Given the description of an element on the screen output the (x, y) to click on. 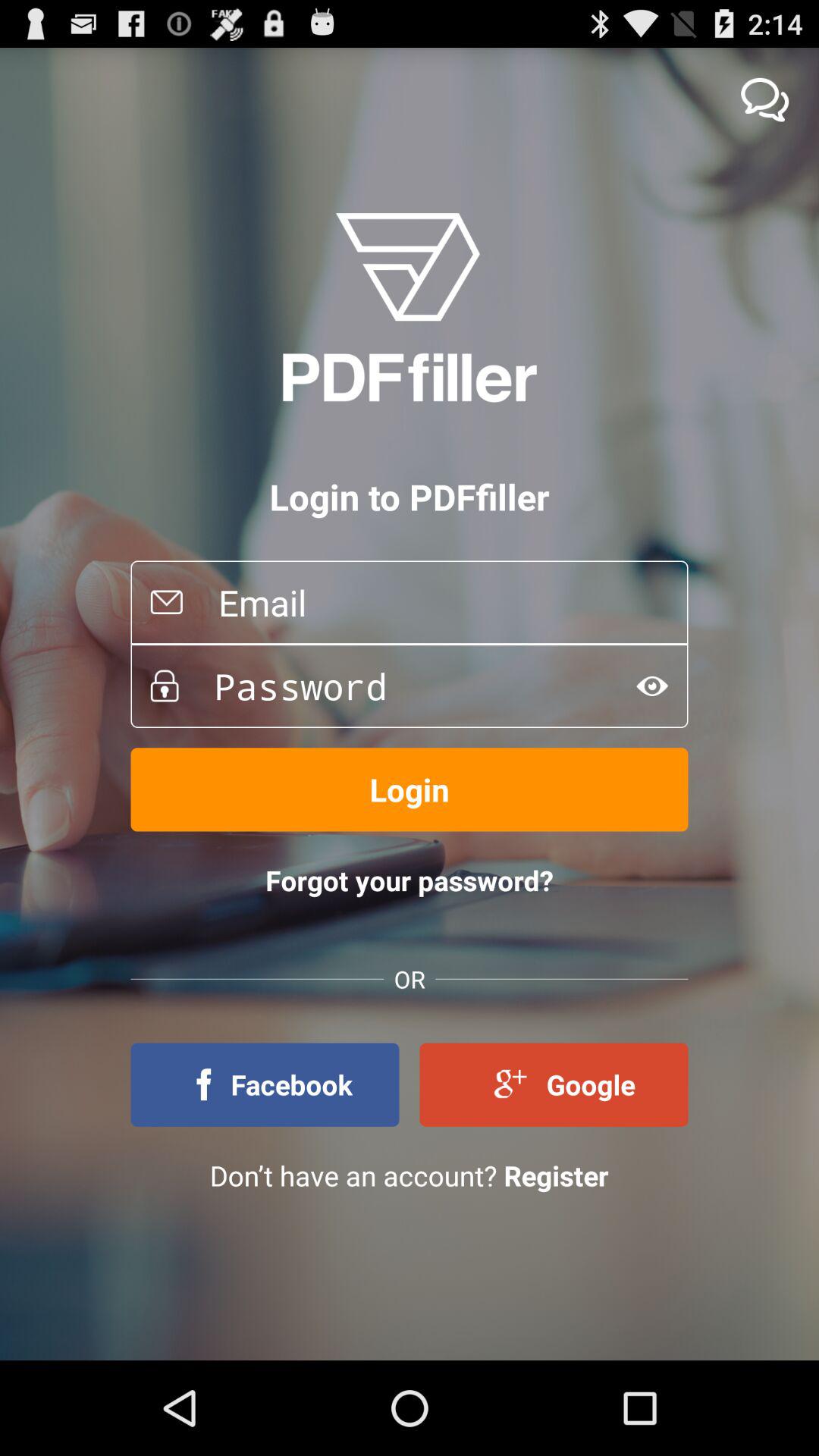
view text (652, 686)
